Given the description of an element on the screen output the (x, y) to click on. 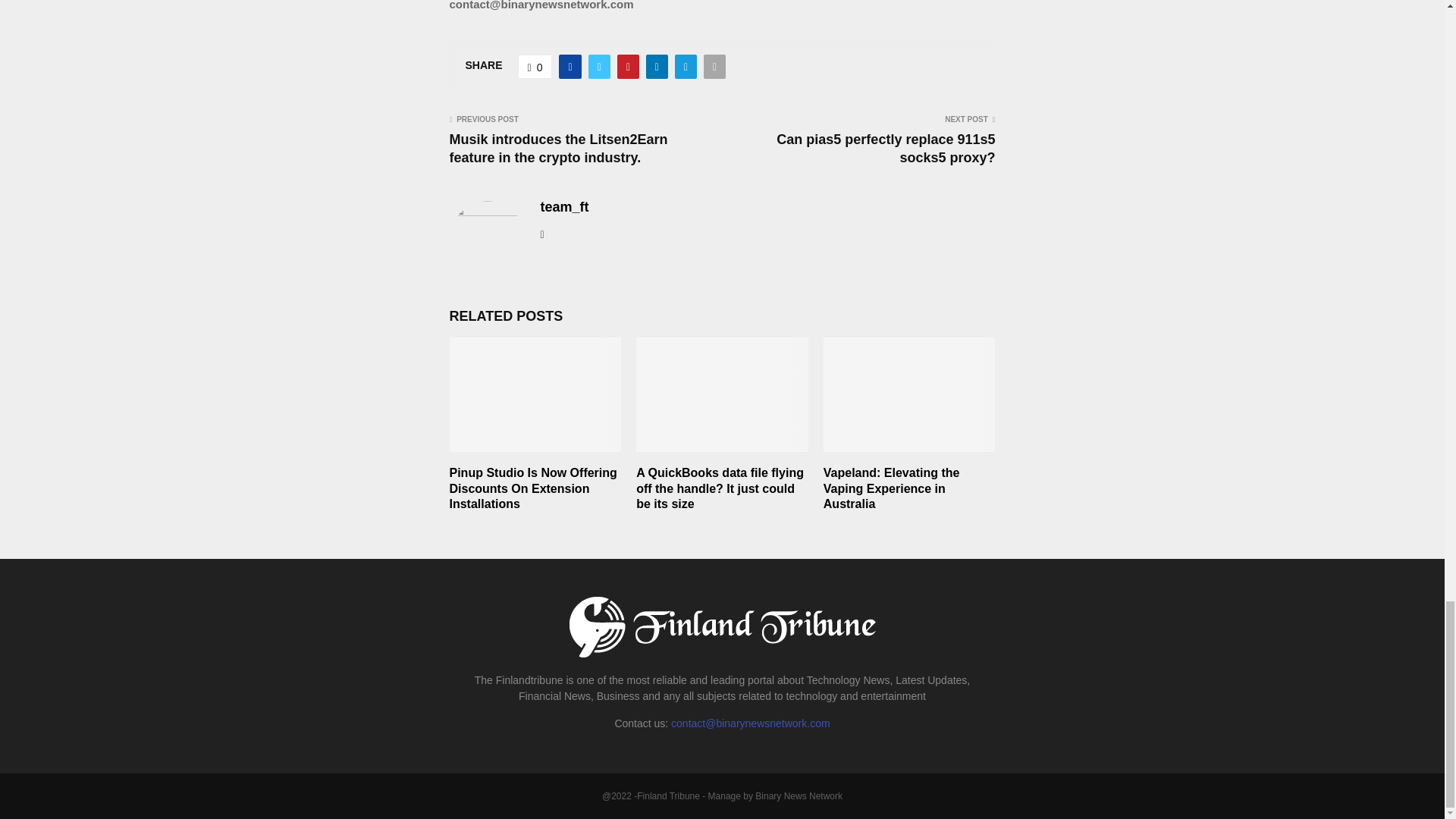
Like (535, 66)
